Given the description of an element on the screen output the (x, y) to click on. 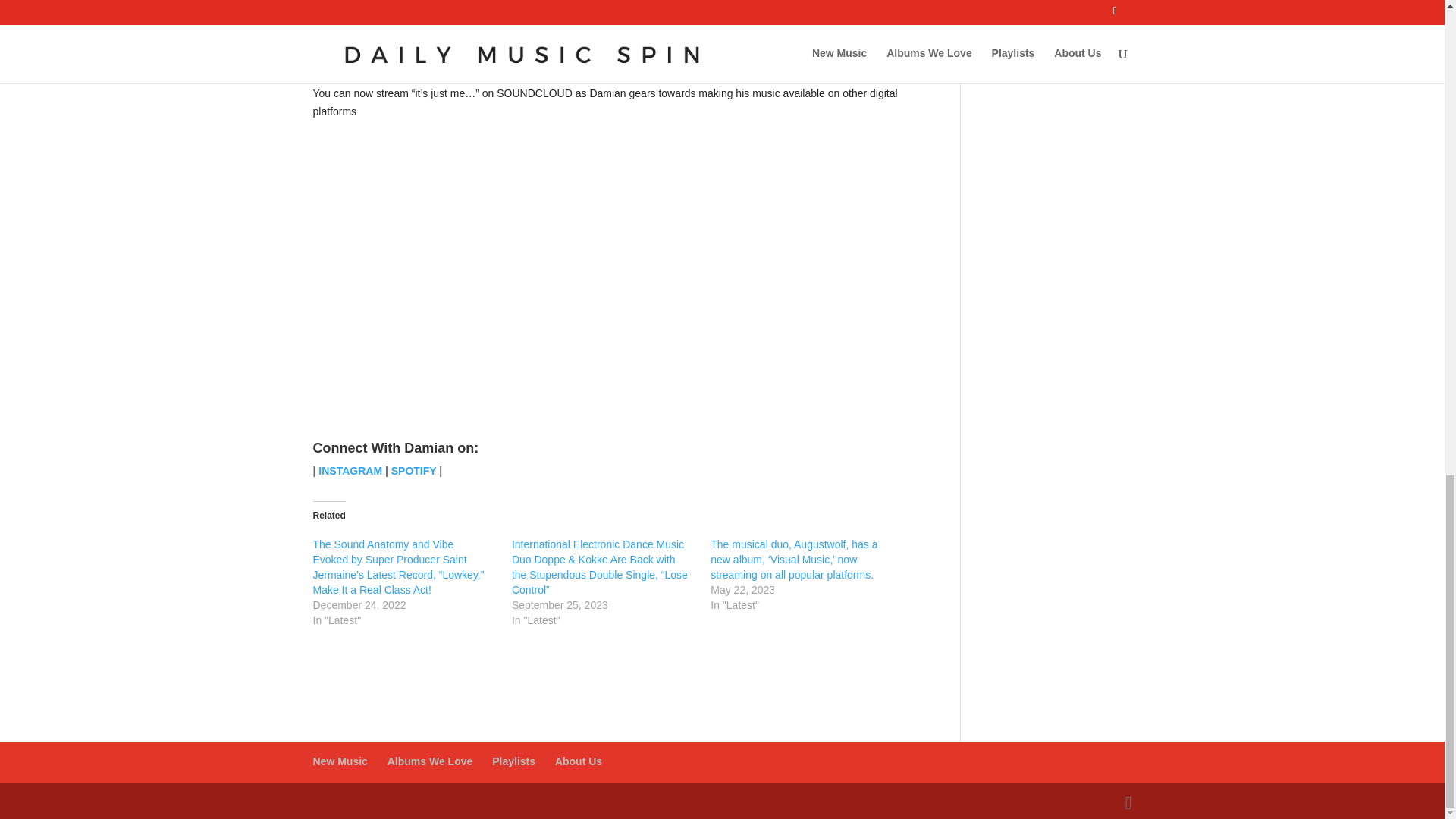
New Music (339, 761)
INSTAGRAM (351, 470)
Playlists (513, 761)
Albums We Love (430, 761)
SPOTIFY (413, 470)
About Us (578, 761)
